Given the description of an element on the screen output the (x, y) to click on. 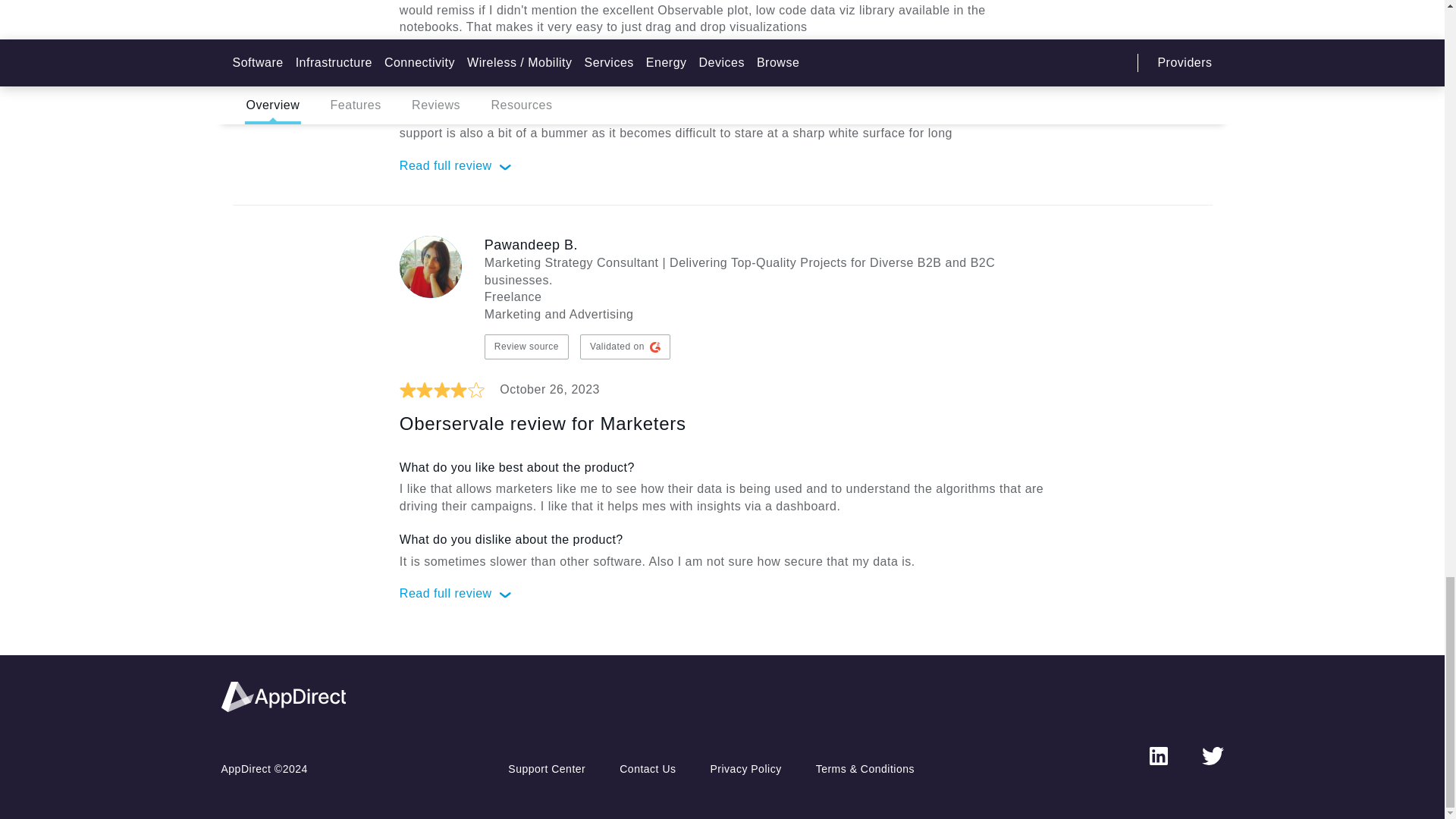
Visit AppSmart on LinkedIn (1158, 755)
Visit AppSmart on Twitter (1212, 755)
AppDirect logo (283, 696)
